Given the description of an element on the screen output the (x, y) to click on. 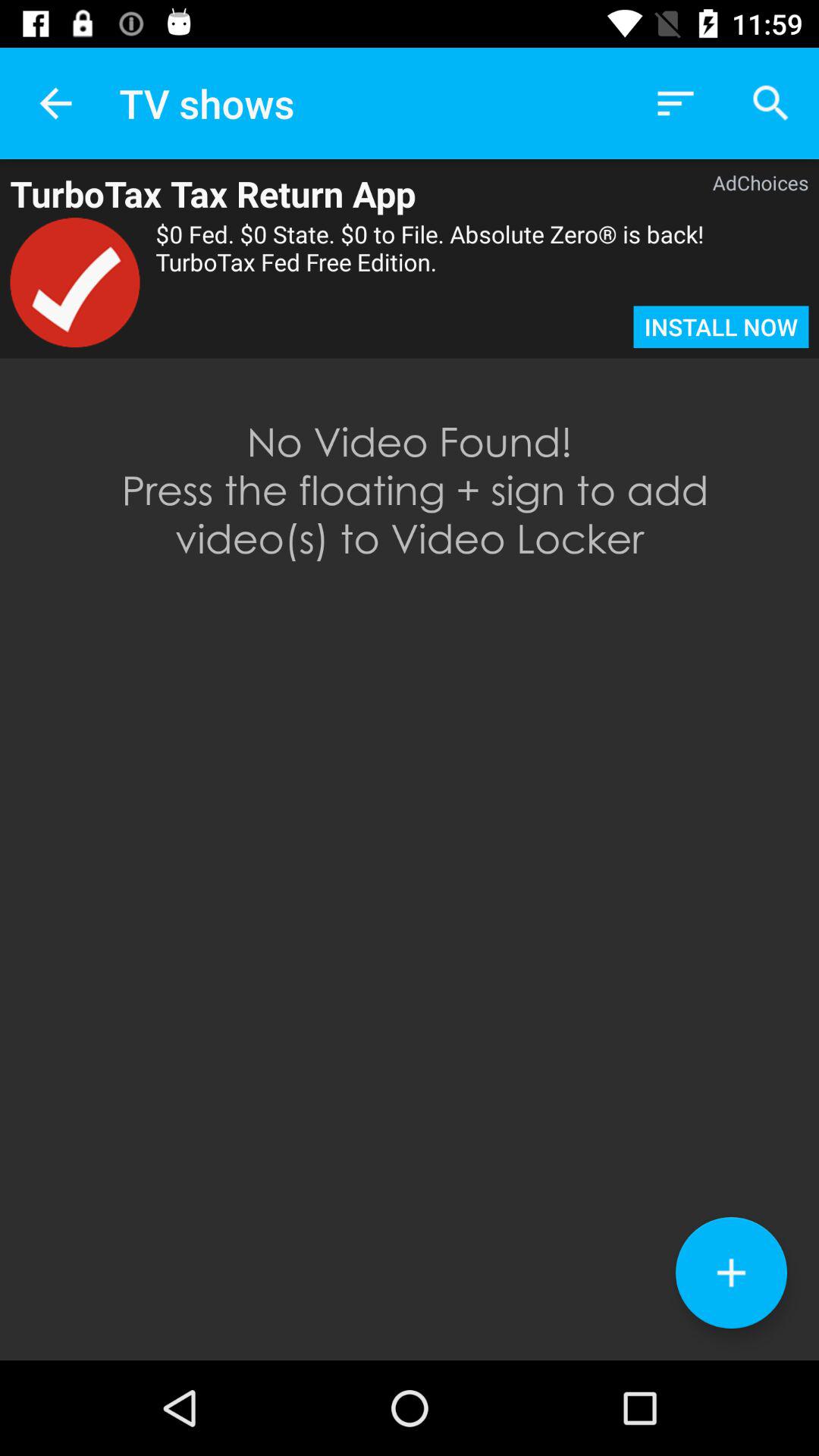
launch 0 fed 0 item (481, 261)
